Given the description of an element on the screen output the (x, y) to click on. 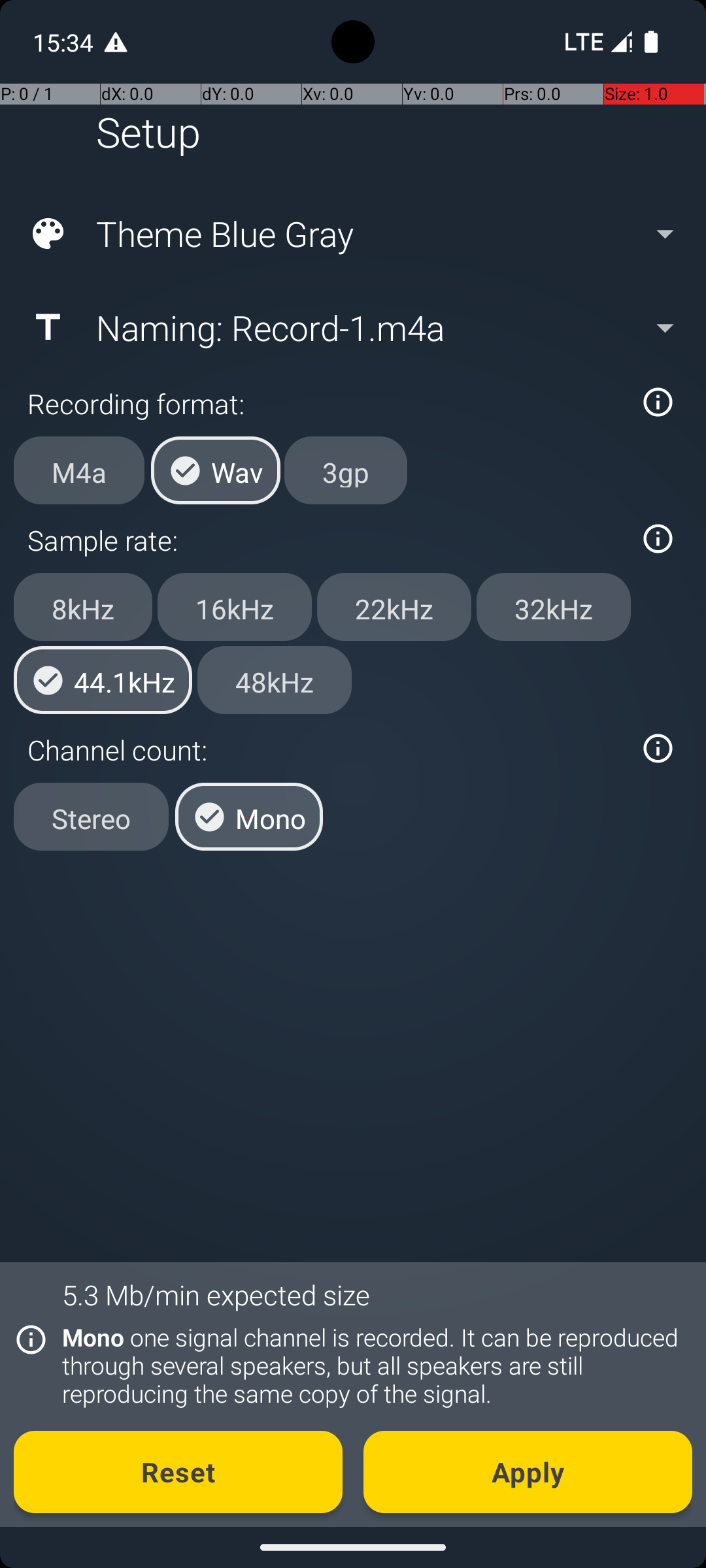
5.3 Mb/min expected size Element type: android.widget.TextView (215, 1294)
Mono one signal channel is recorded. It can be reproduced through several speakers, but all speakers are still reproducing the same copy of the signal. Element type: android.widget.TextView (370, 1364)
